Given the description of an element on the screen output the (x, y) to click on. 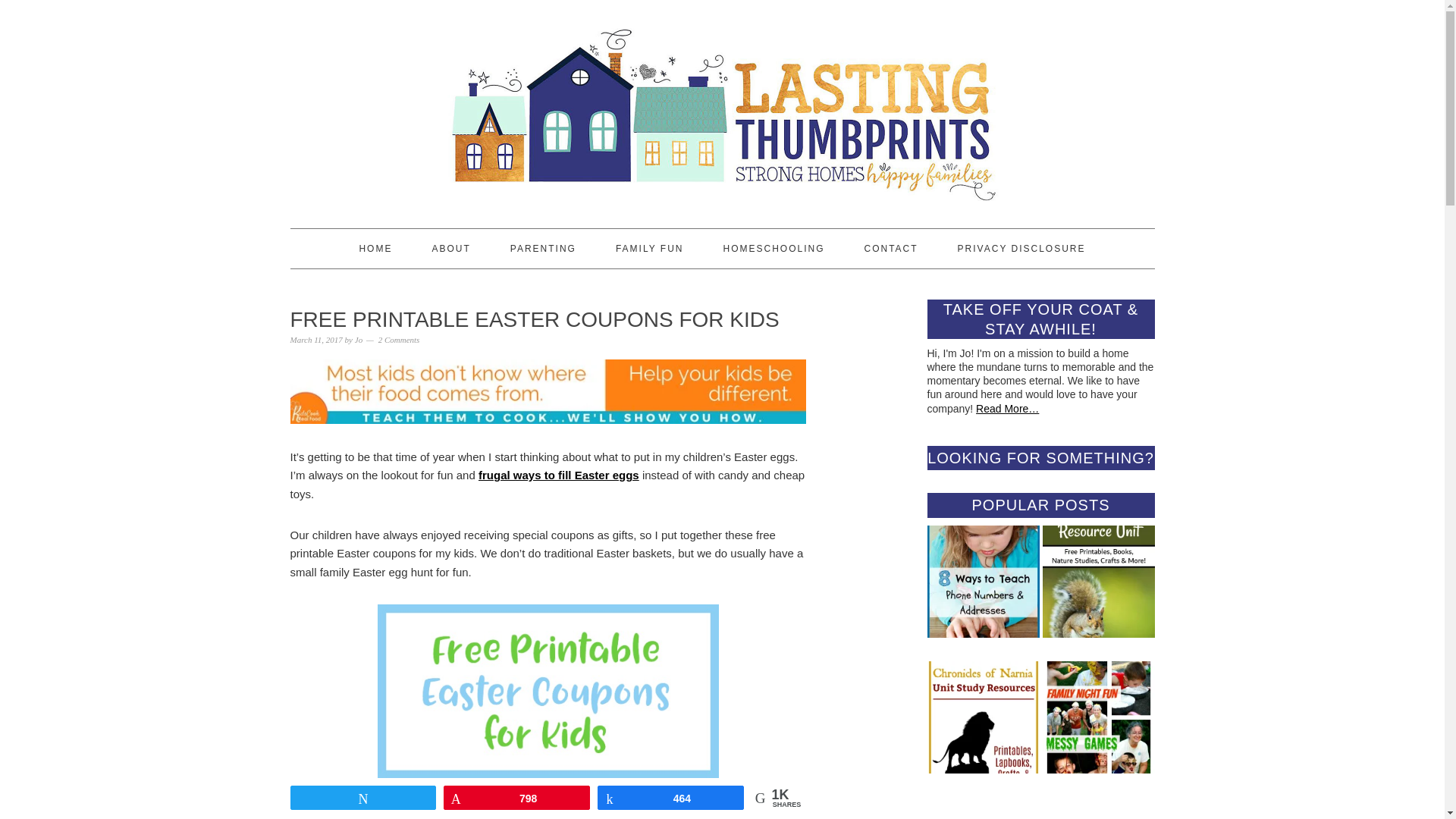
CONTACT (890, 248)
FAMILY FUN (649, 248)
PRIVACY DISCLOSURE (1022, 248)
HOME (374, 248)
HOMESCHOOLING (773, 248)
PARENTING (543, 248)
ABOUT (450, 248)
frugal ways to fill Easter eggs (559, 474)
2 Comments (399, 338)
